Given the description of an element on the screen output the (x, y) to click on. 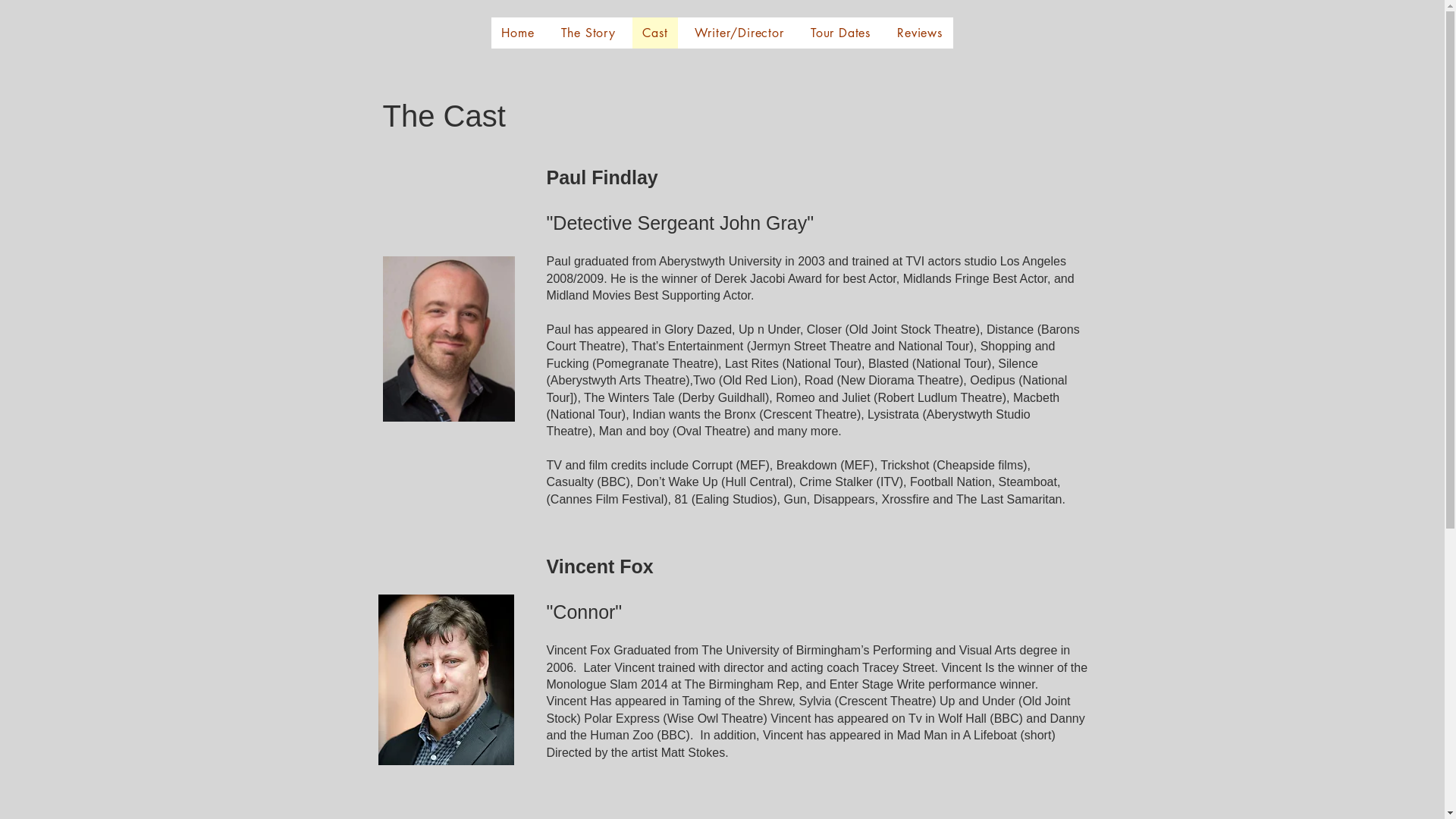
The Story Element type: text (588, 32)
Tour Dates Element type: text (840, 32)
Writer/Director Element type: text (738, 32)
Reviews Element type: text (920, 32)
Cast Element type: text (655, 32)
Home Element type: text (518, 32)
